Given the description of an element on the screen output the (x, y) to click on. 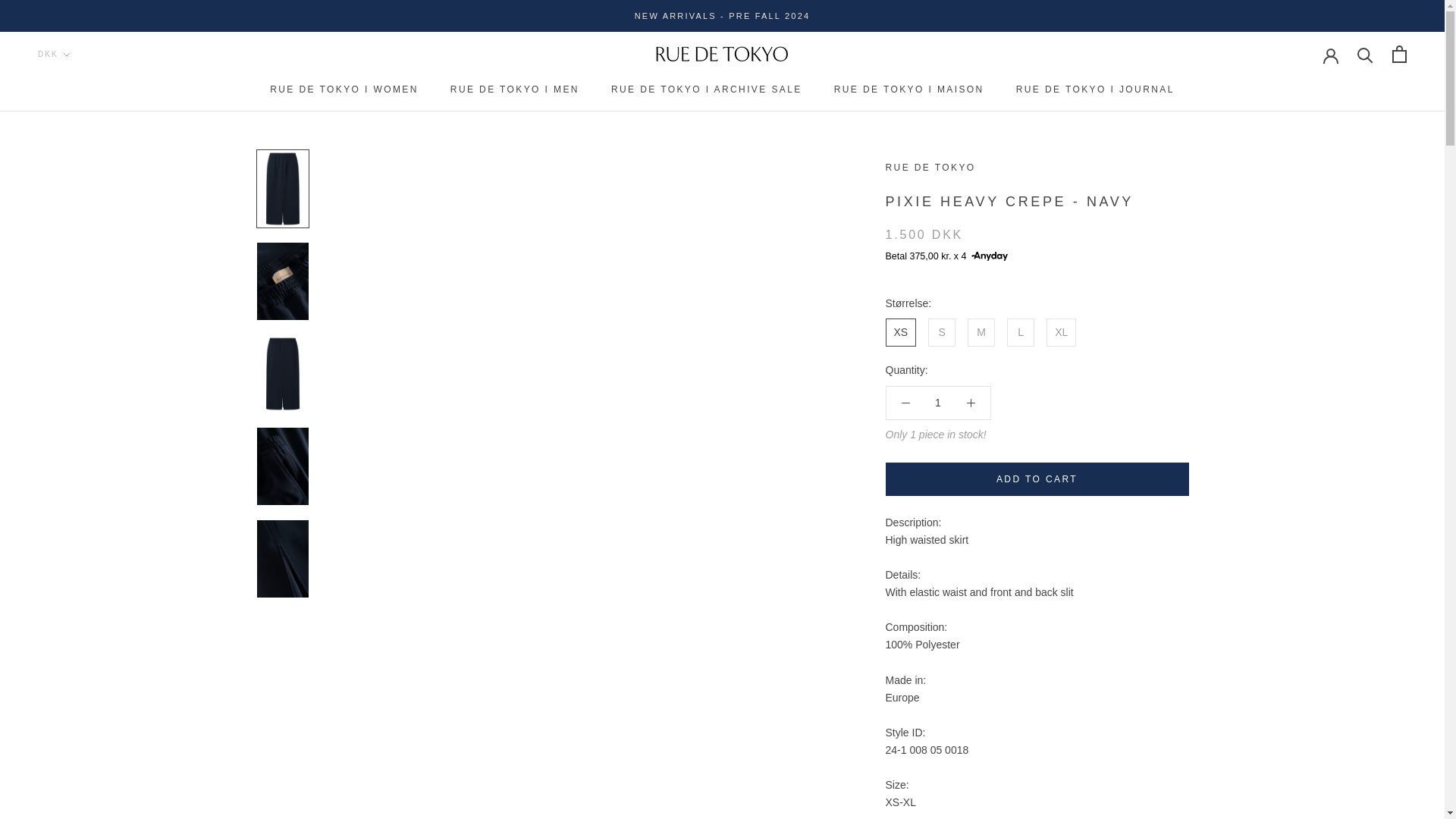
RUE DE TOKYO I WOMEN (344, 89)
Currency selector (53, 53)
NEW ARRIVALS - PRE FALL 2024 (722, 15)
1 (938, 402)
